Given the description of an element on the screen output the (x, y) to click on. 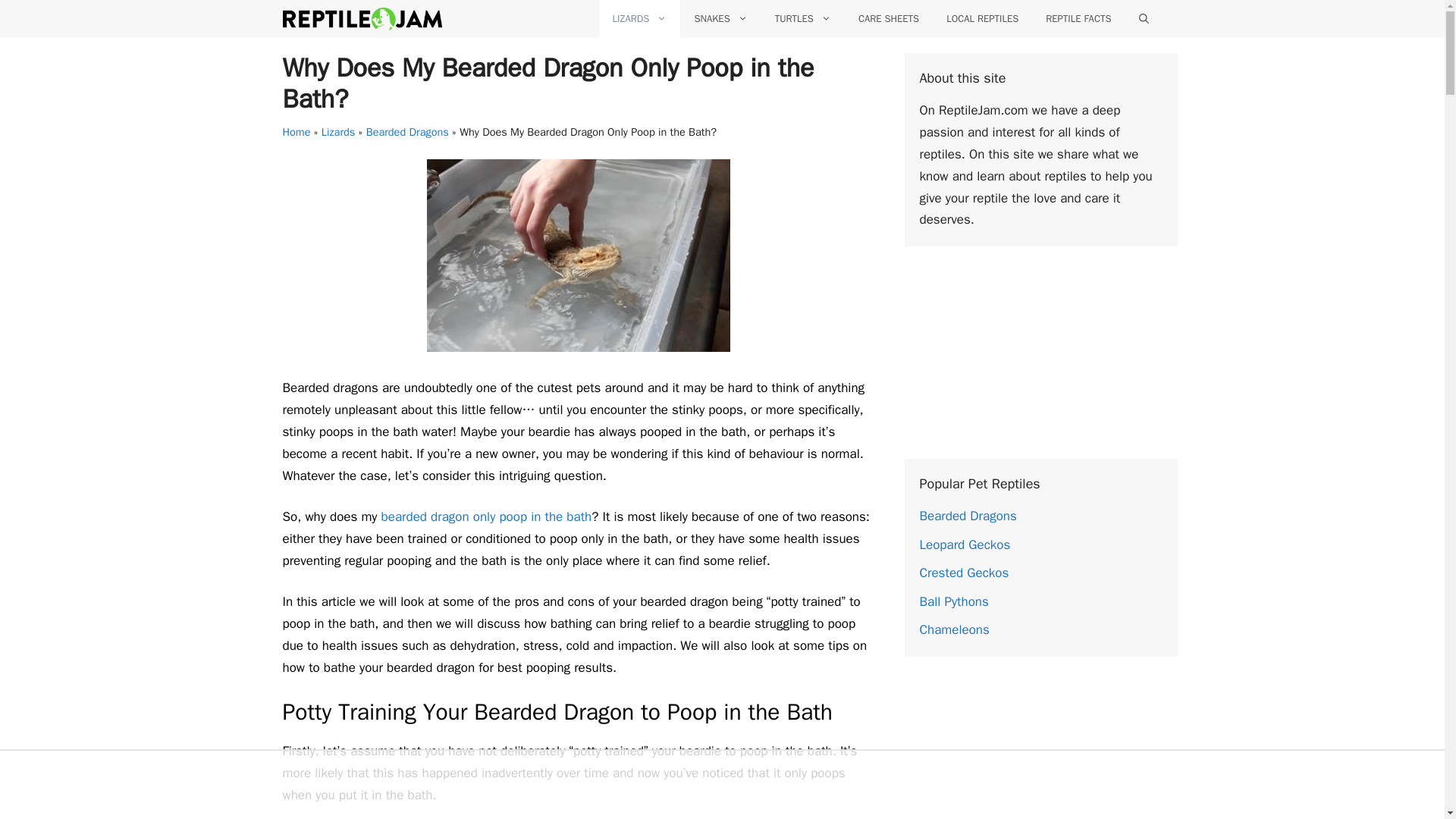
SNAKES (719, 18)
Reptile Jam (361, 18)
LIZARDS (639, 18)
TURTLES (802, 18)
